Given the description of an element on the screen output the (x, y) to click on. 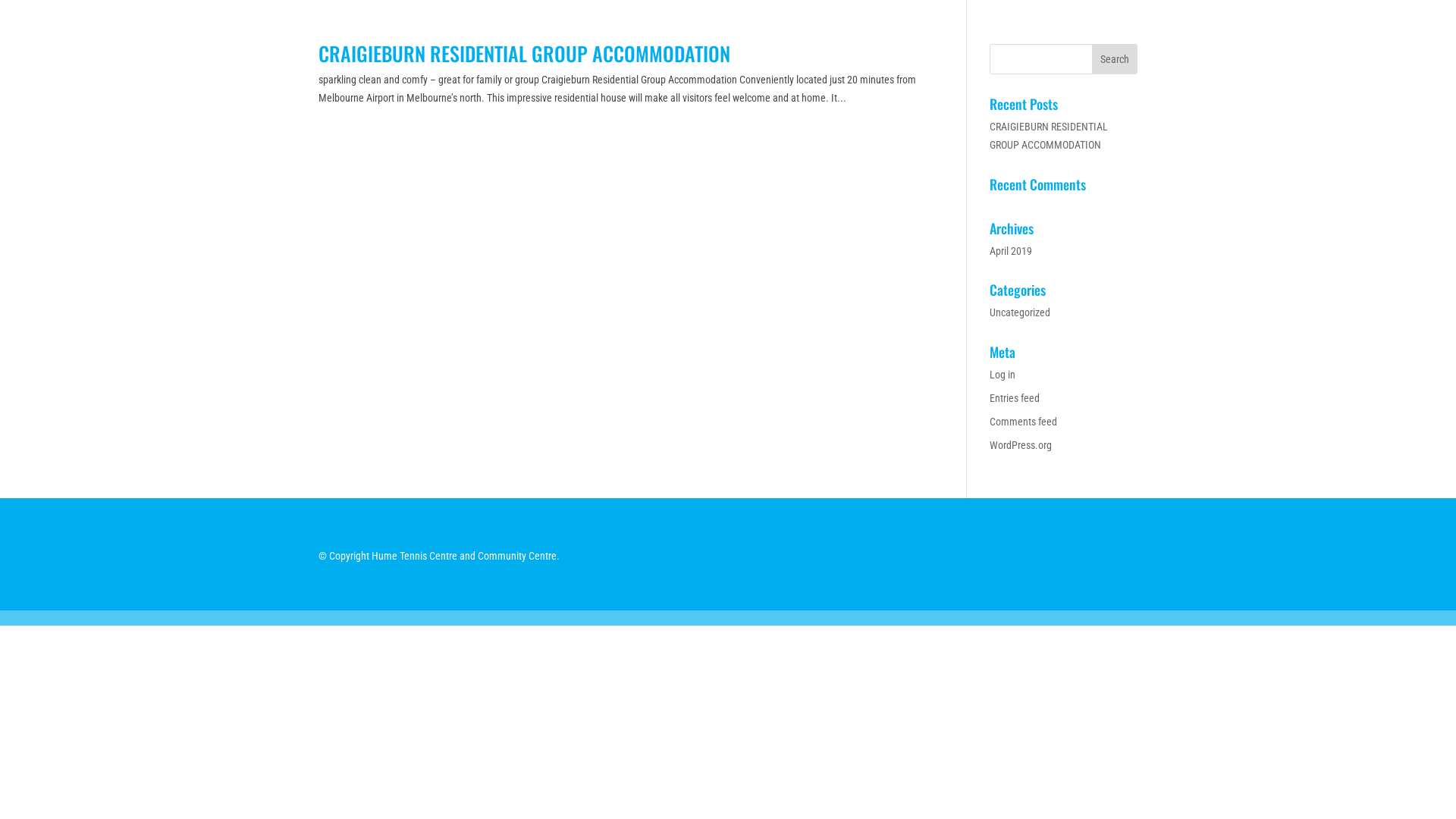
Search Element type: text (1114, 58)
CRAIGIEBURN RESIDENTIAL GROUP ACCOMMODATION Element type: text (524, 53)
April 2019 Element type: text (1010, 250)
CRAIGIEBURN RESIDENTIAL GROUP ACCOMMODATION Element type: text (1048, 135)
Uncategorized Element type: text (1019, 312)
Log in Element type: text (1002, 374)
Comments feed Element type: text (1023, 421)
WordPress.org Element type: text (1020, 445)
Entries feed Element type: text (1014, 398)
